Given the description of an element on the screen output the (x, y) to click on. 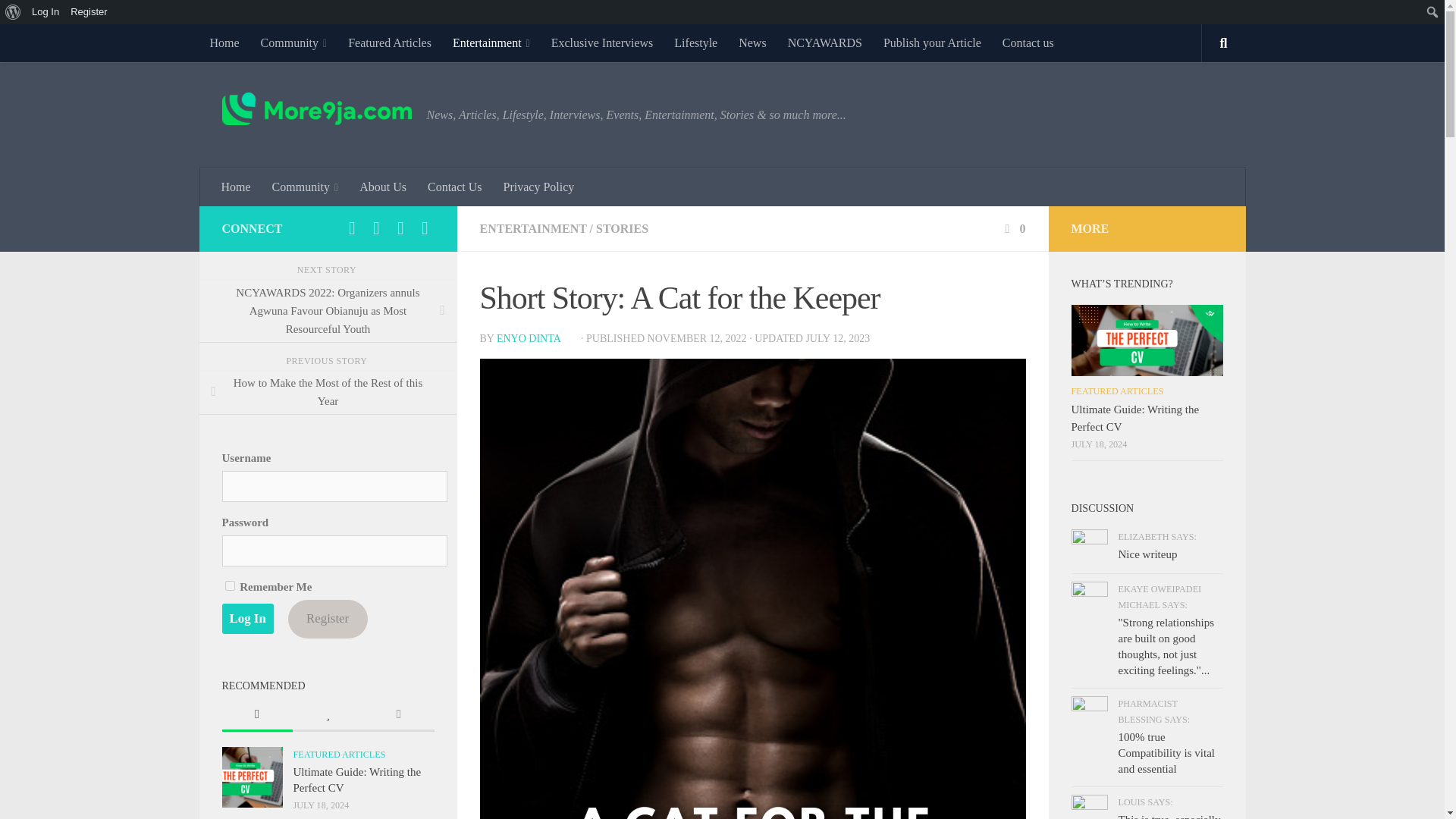
Log In (247, 618)
Follow us on Facebook (351, 228)
Recent Posts (256, 715)
Home (223, 43)
Skip to content (59, 20)
Featured Articles (389, 43)
forever (229, 585)
Follow us on Instagram (375, 228)
Log In (45, 12)
Recent Comments (397, 715)
Entertainment (491, 43)
Follow us on Linkedin (423, 228)
Search (15, 12)
Popular Posts (327, 715)
Posts by Enyo Dinta (537, 337)
